Given the description of an element on the screen output the (x, y) to click on. 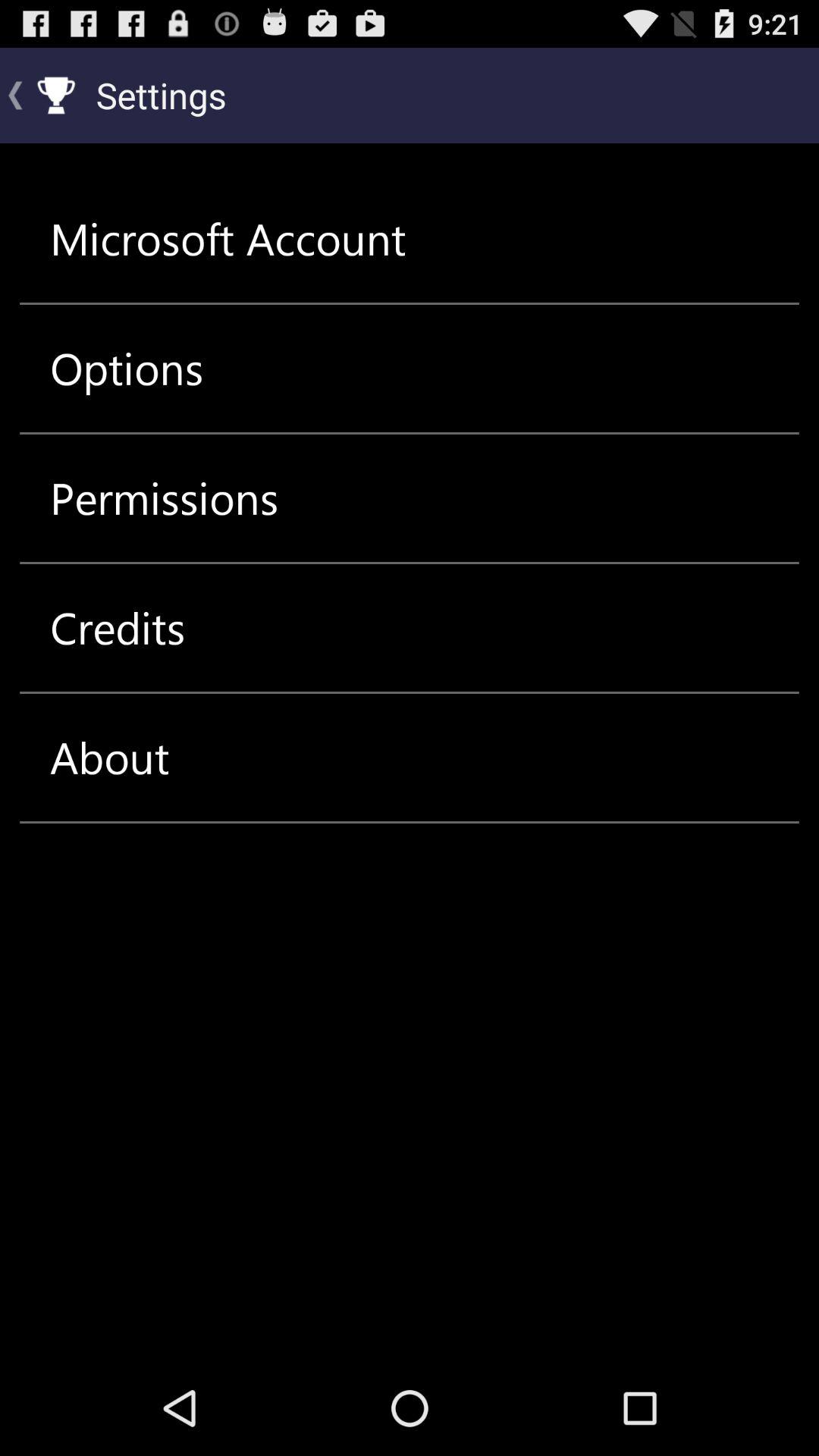
flip until the options icon (126, 368)
